Given the description of an element on the screen output the (x, y) to click on. 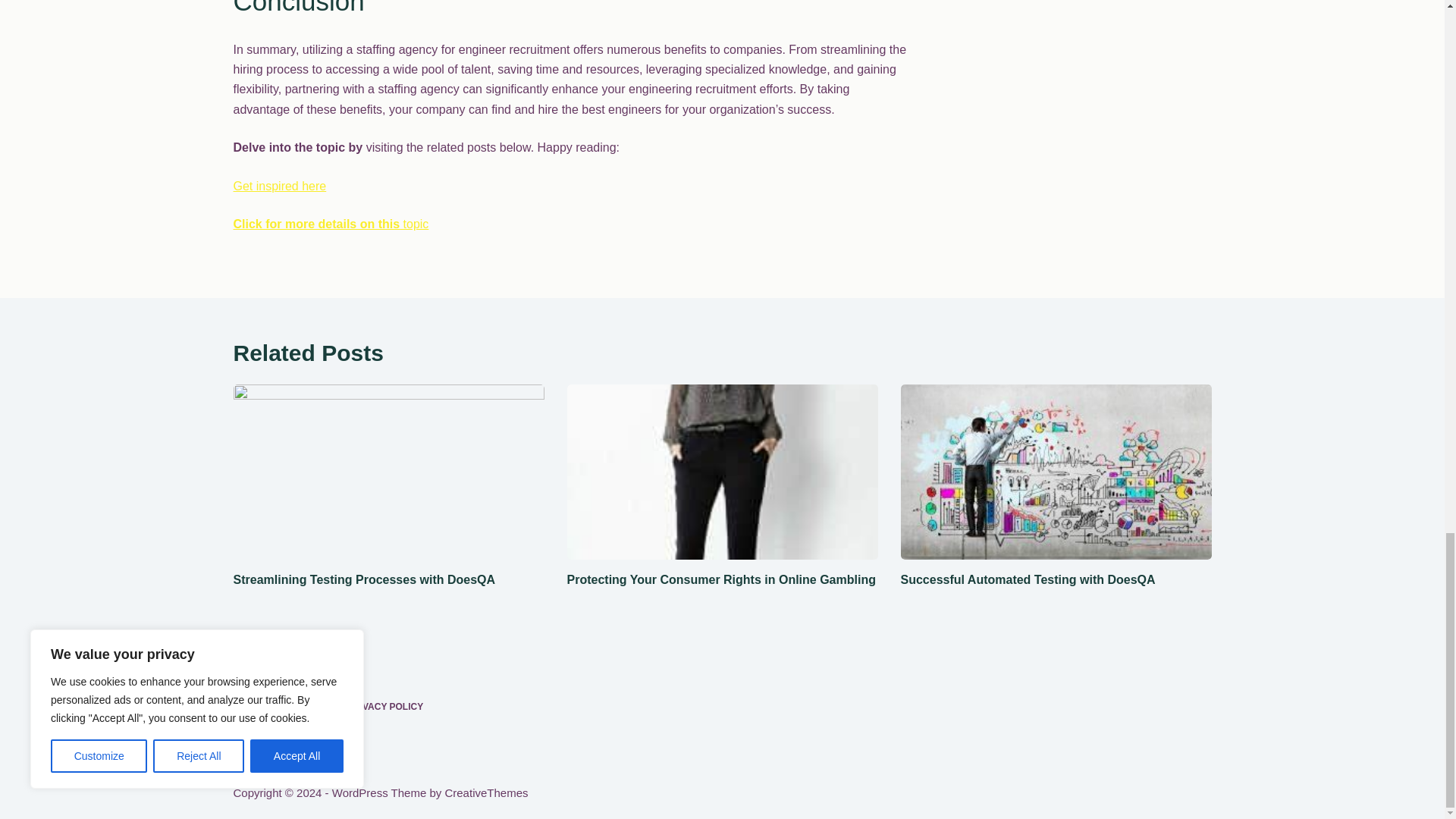
Get inspired here (279, 185)
Click for more details on this topic (330, 223)
